Given the description of an element on the screen output the (x, y) to click on. 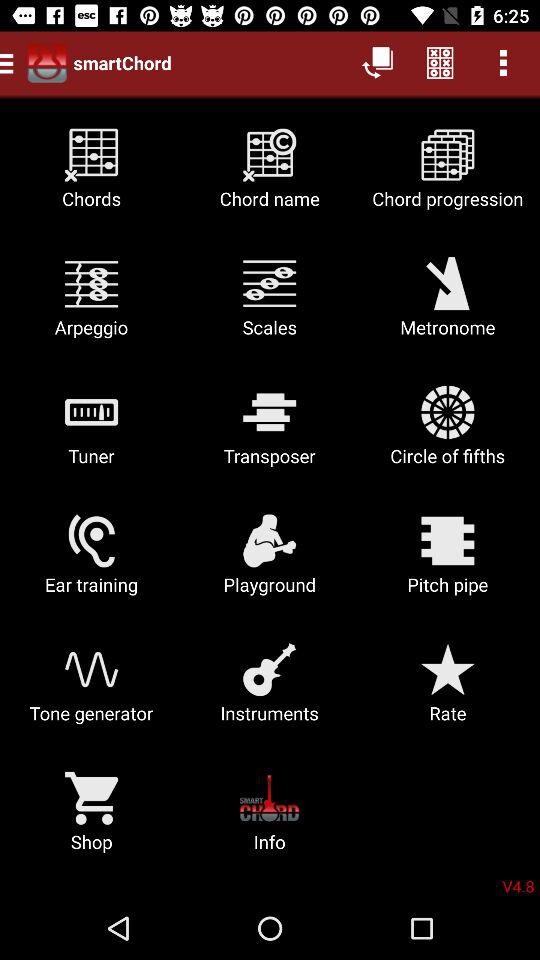
launch the item above the ear training (91, 432)
